Given the description of an element on the screen output the (x, y) to click on. 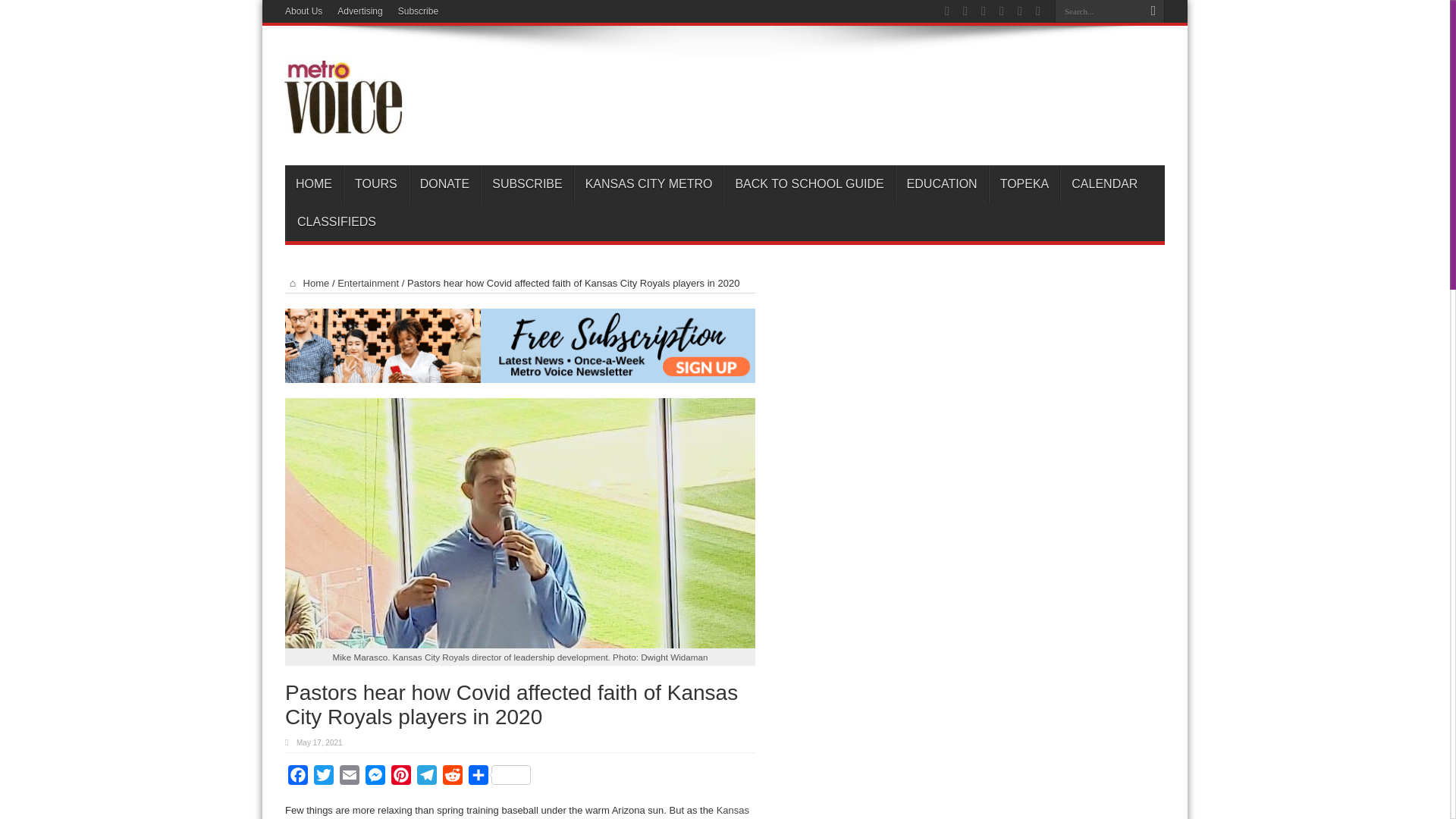
Messenger (375, 777)
Facebook (298, 777)
KANSAS CITY METRO (648, 184)
DONATE (444, 184)
Advertising (359, 11)
TOPEKA (1023, 184)
EDUCATION (941, 184)
Reddit (452, 777)
Subscribe (417, 11)
HOME (313, 184)
